Given the description of an element on the screen output the (x, y) to click on. 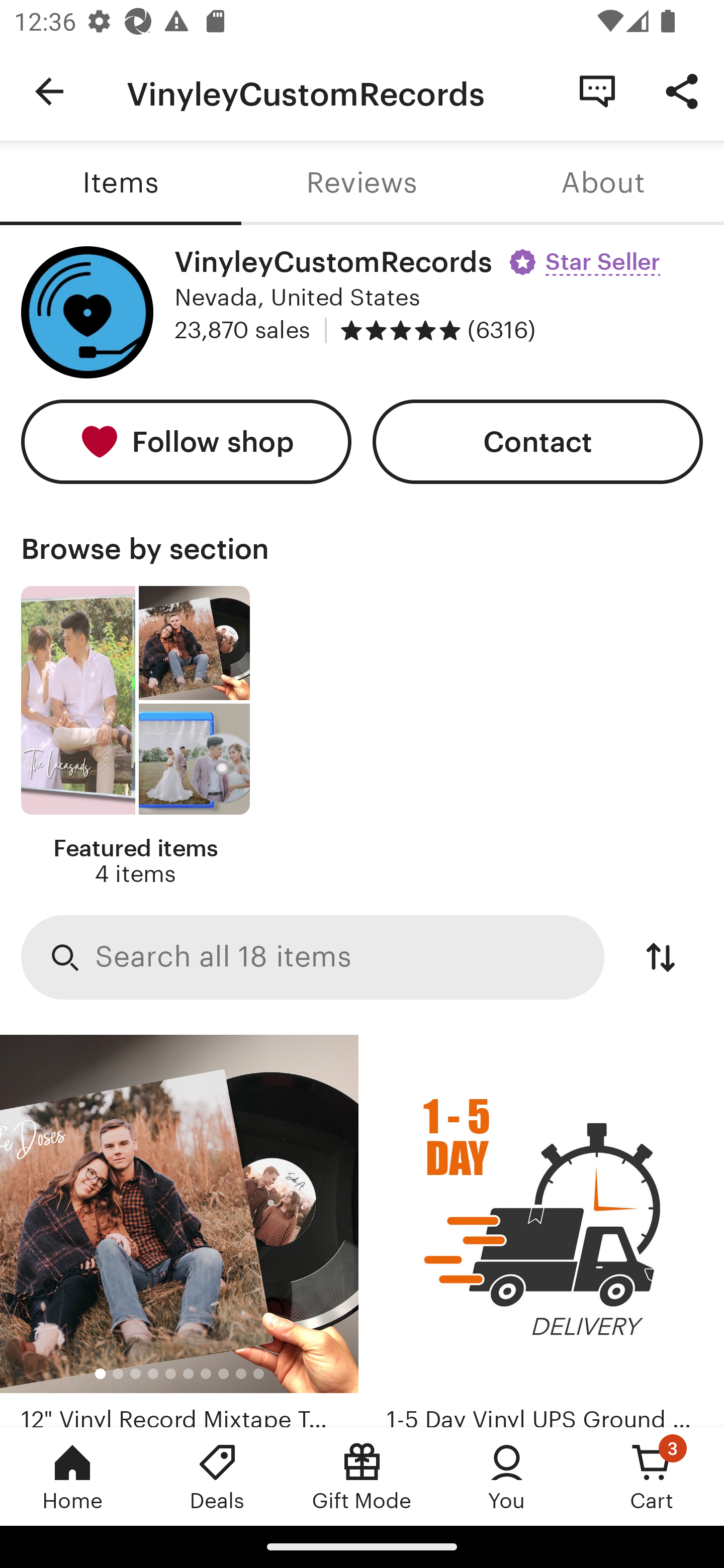
Navigate up (49, 91)
Contact Shop (597, 90)
Share (681, 90)
Reviews (361, 183)
About (603, 183)
Star Seller (587, 255)
Follow shop (185, 441)
Contact (537, 441)
Featured items 4 items (134, 736)
Search Search all 18 items (312, 957)
1-5 Day Vinyl UPS Ground Shipping: ADD ON (544, 1230)
Deals (216, 1475)
Gift Mode (361, 1475)
You (506, 1475)
Cart, 3 new notifications Cart (651, 1475)
